Given the description of an element on the screen output the (x, y) to click on. 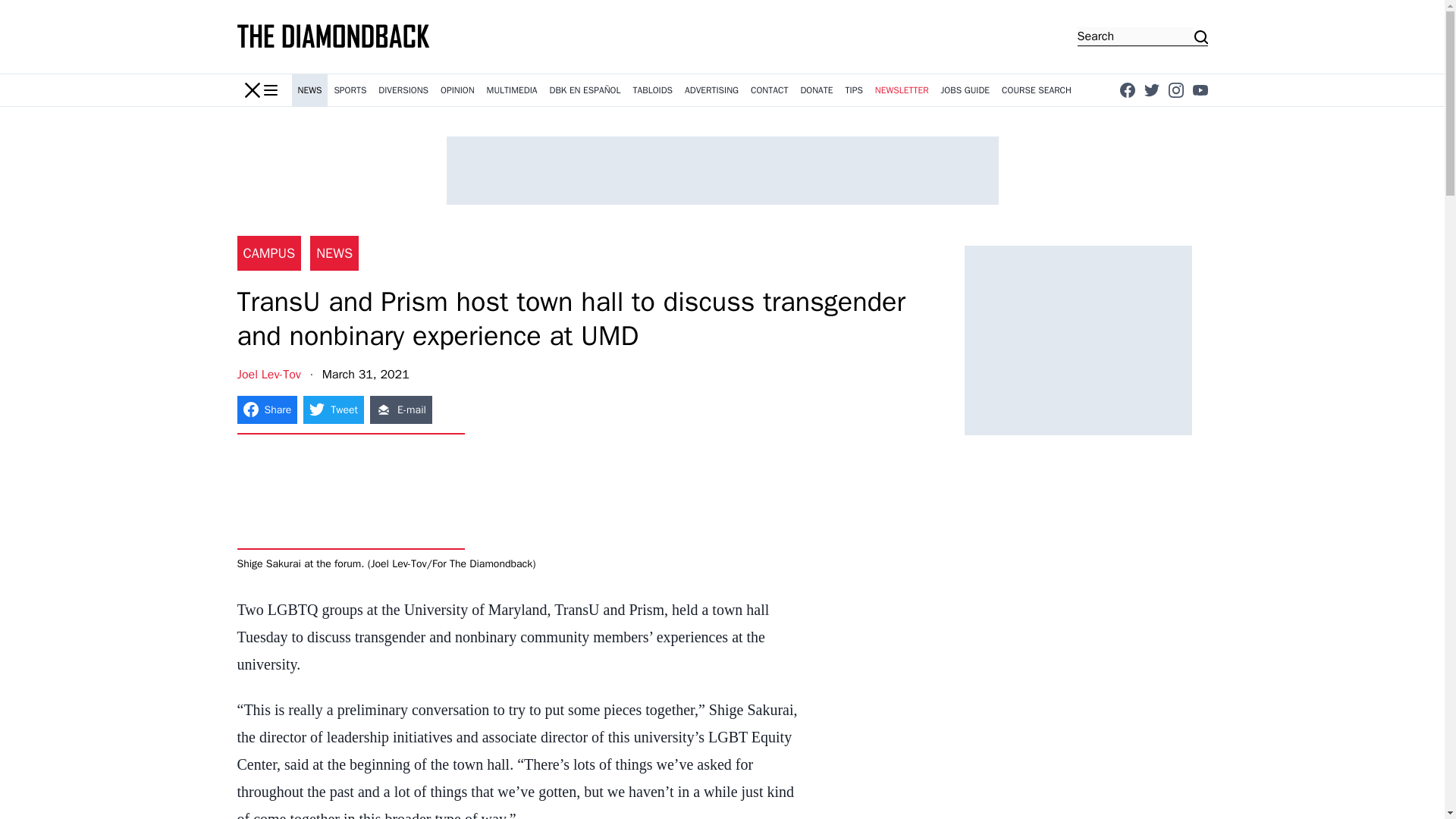
NEWS (309, 90)
MULTIMEDIA (511, 90)
Diversions (402, 90)
Tabloids (652, 90)
OPINION (456, 90)
TABLOIDS (652, 90)
Advertising (711, 90)
Contact (768, 90)
CONTACT (768, 90)
COURSE SEARCH (1036, 90)
The Diamondback (332, 36)
Sports (349, 90)
Newsletter (901, 90)
News (309, 90)
Jobs Guide (964, 90)
